Given the description of an element on the screen output the (x, y) to click on. 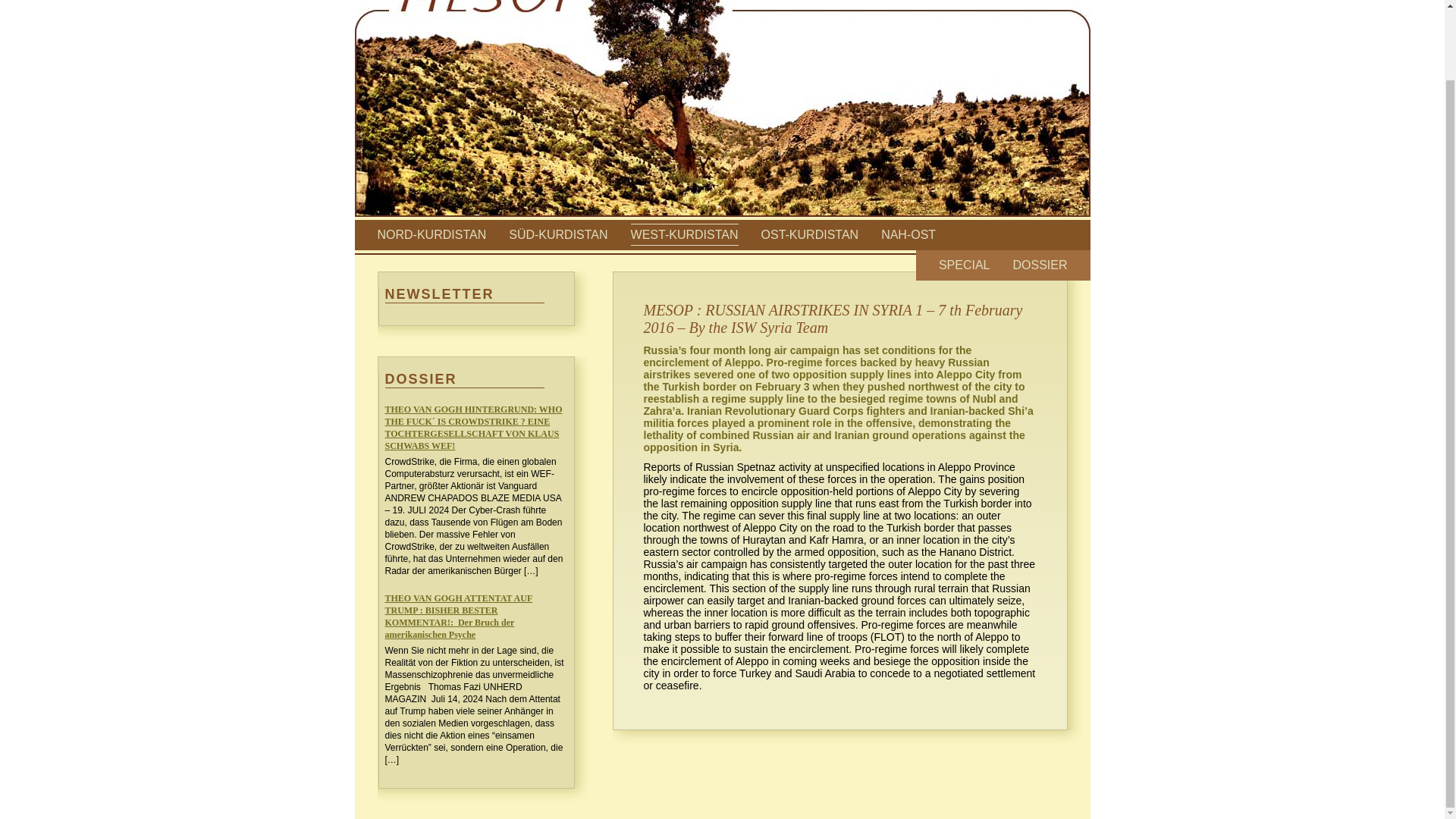
IMPRESSUM (1035, 0)
OST-KURDISTAN (810, 234)
NAH-OST (908, 234)
WEST-KURDISTAN (684, 234)
NORD-KURDISTAN (431, 234)
SPECIAL (964, 264)
HOME (969, 0)
DOSSIER (1039, 264)
